Given the description of an element on the screen output the (x, y) to click on. 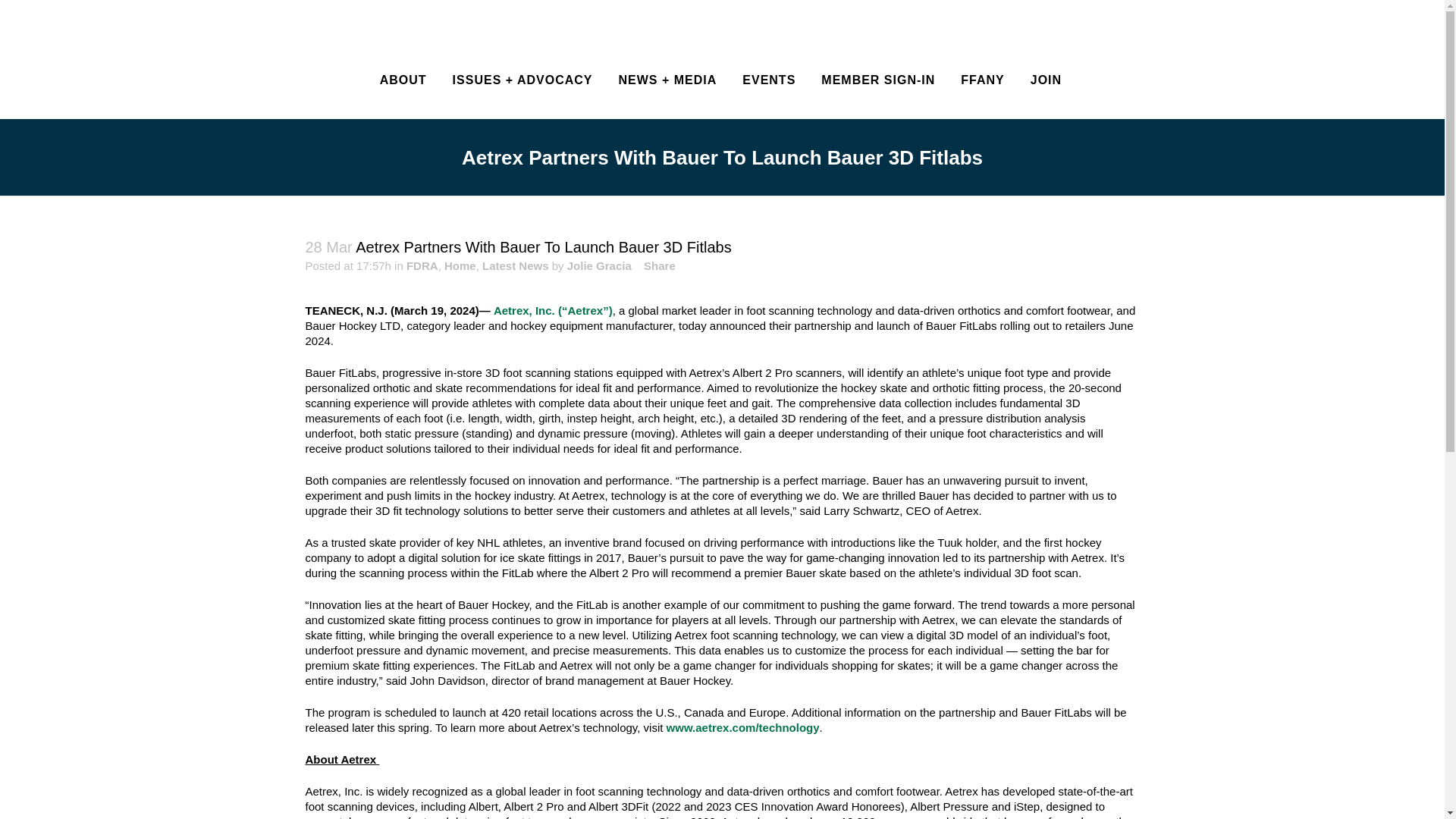
EVENTS (768, 79)
FFANY (981, 79)
MEMBER SIGN-IN (877, 79)
ABOUT (402, 79)
